Given the description of an element on the screen output the (x, y) to click on. 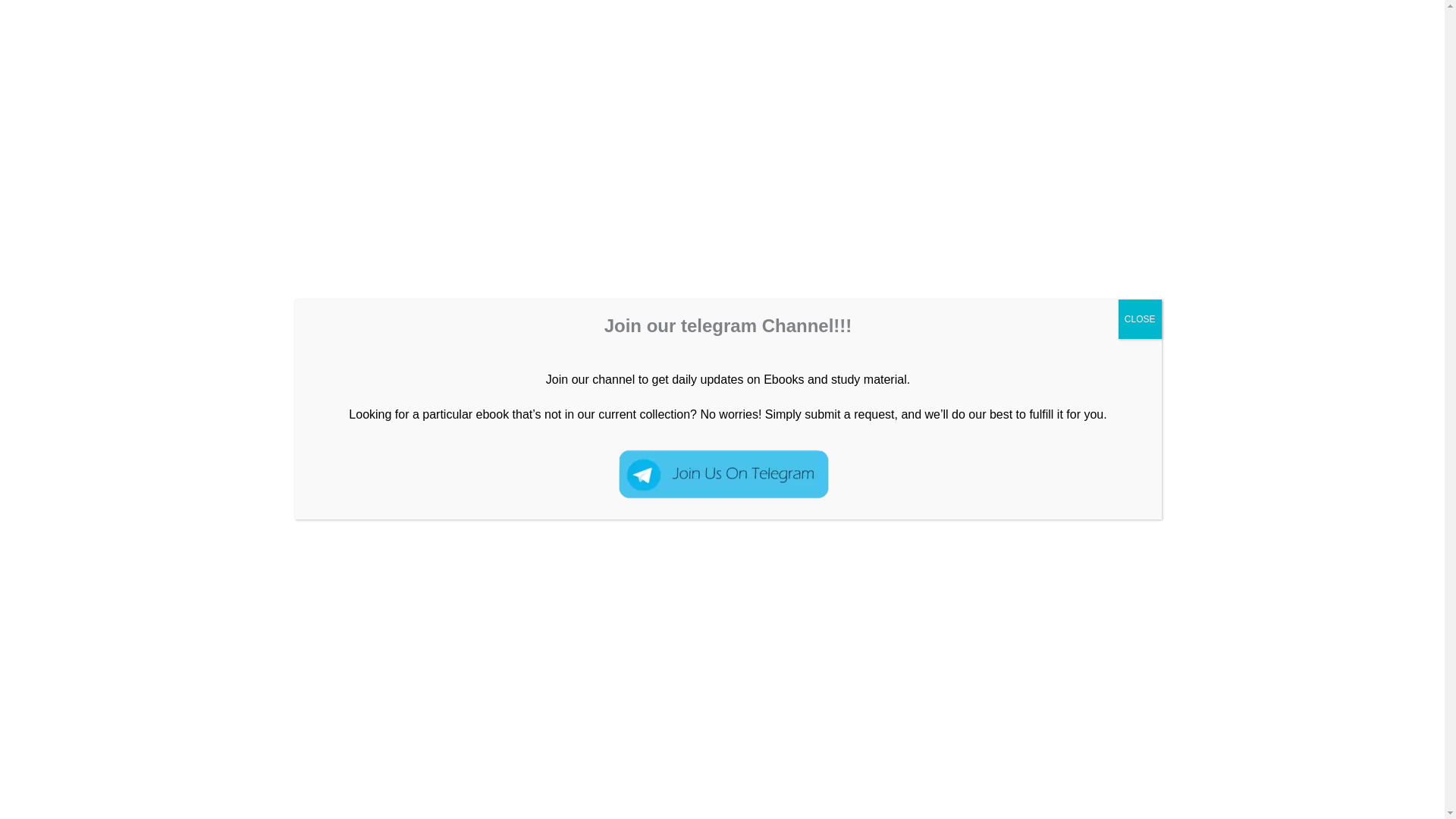
BIOLOGY (228, 291)
CLASS 12 (290, 291)
View all posts by JIGS SOLANKI (546, 291)
Leave a Comment (143, 291)
CBSE (1388, 67)
BIOLOGY (1320, 67)
STUDY MATERIALS (419, 291)
NEET (339, 291)
MATHEMATICS (1225, 67)
CLOSE (1139, 319)
PHYSICS (1036, 67)
CHEMISTRY (1122, 67)
JIGS SOLANKI (546, 291)
JIGSSOLANKI (285, 67)
